Given the description of an element on the screen output the (x, y) to click on. 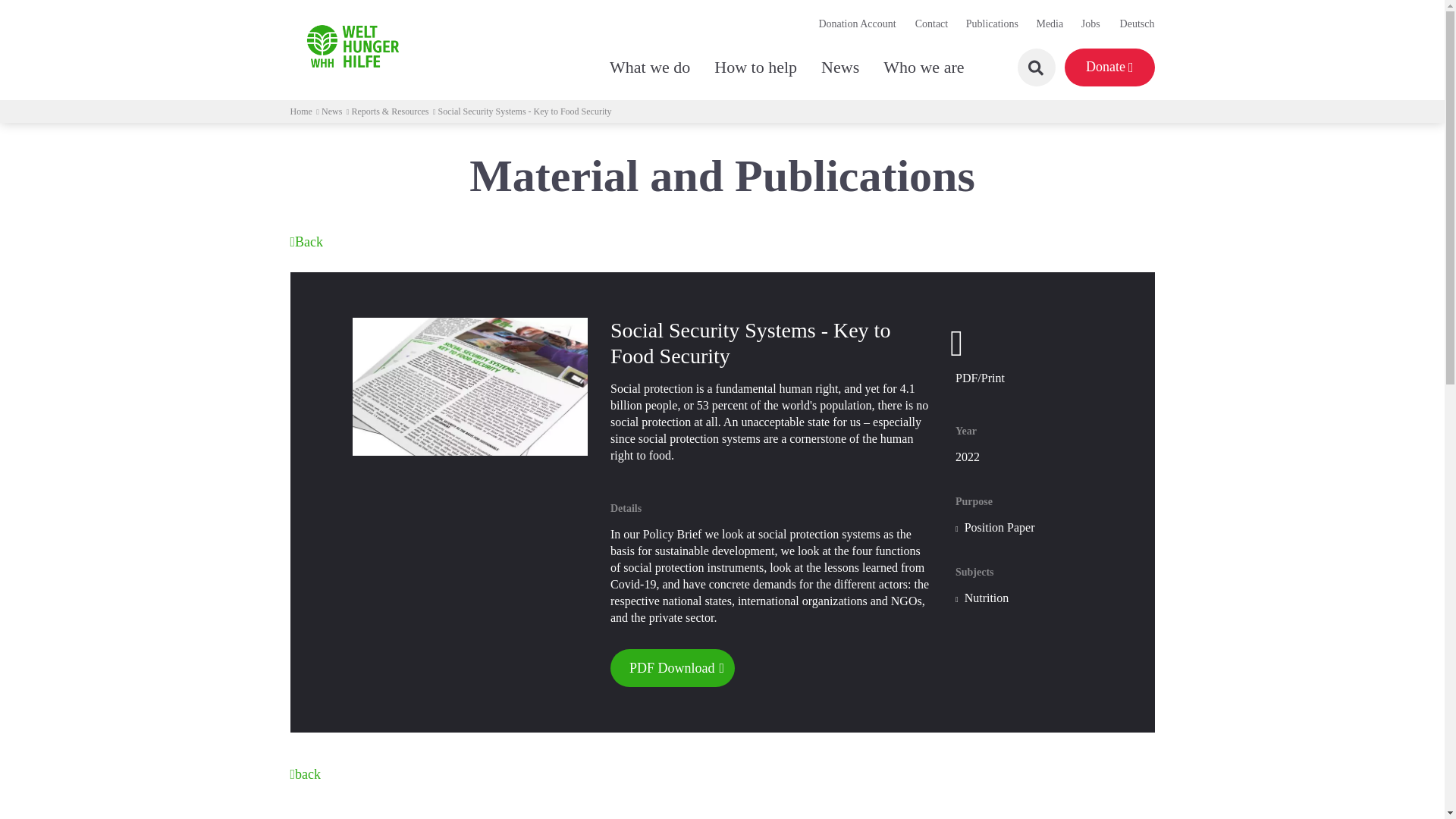
Media (1048, 23)
Media (1048, 23)
show donation account (858, 23)
Donate (1109, 67)
Welthungerhilfe (351, 46)
Publications (991, 23)
Contact (932, 23)
deutsch (1127, 23)
What we do (634, 66)
Publications (991, 23)
